Given the description of an element on the screen output the (x, y) to click on. 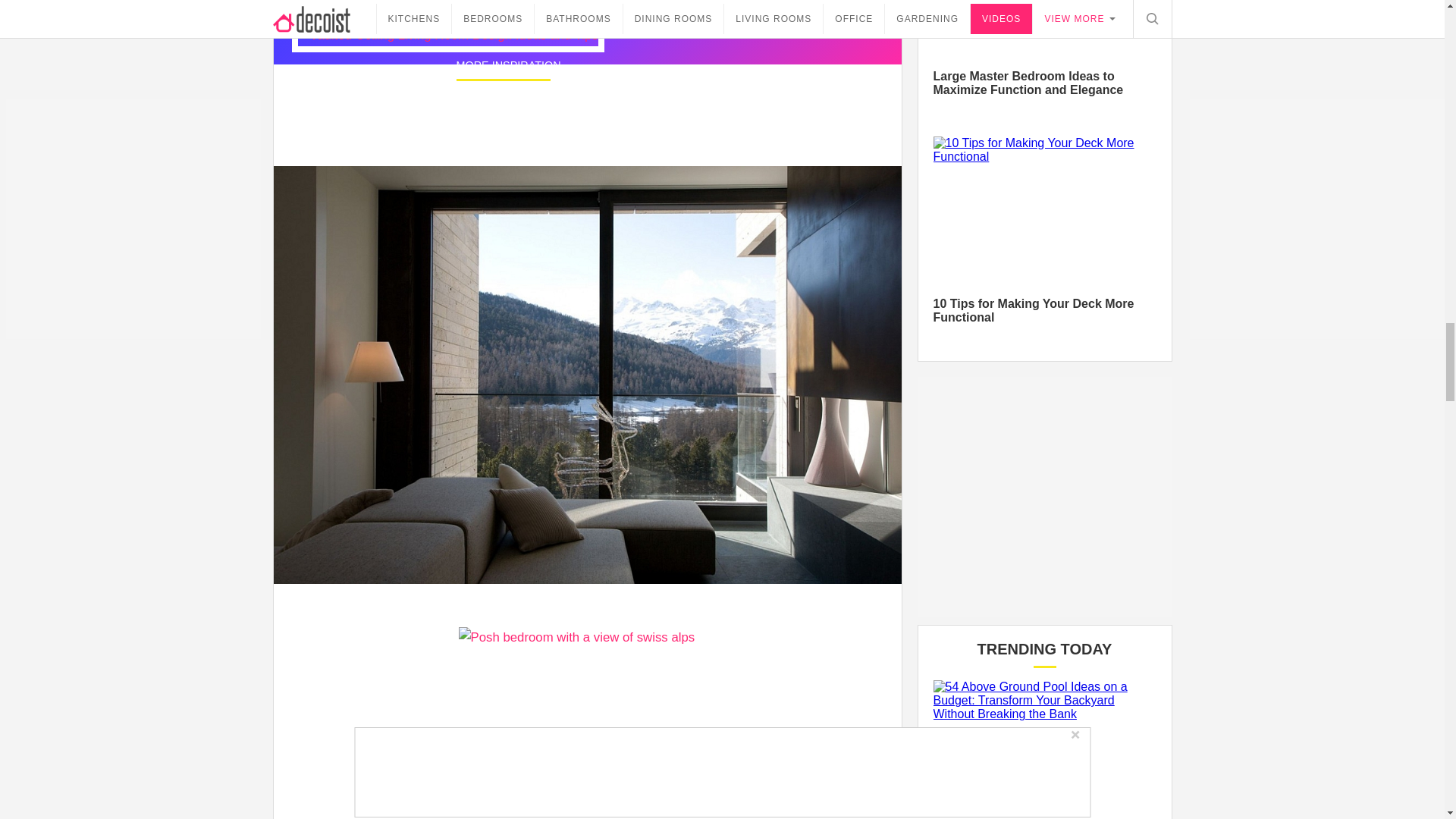
Vaulted Ceiling Living Room Design Ideas and Tips (649, 119)
Vaulted Ceiling Living Room Design Ideas and Tips (447, 34)
Vaulted Ceiling Living Room Design Ideas and Tips (649, 119)
